Given the description of an element on the screen output the (x, y) to click on. 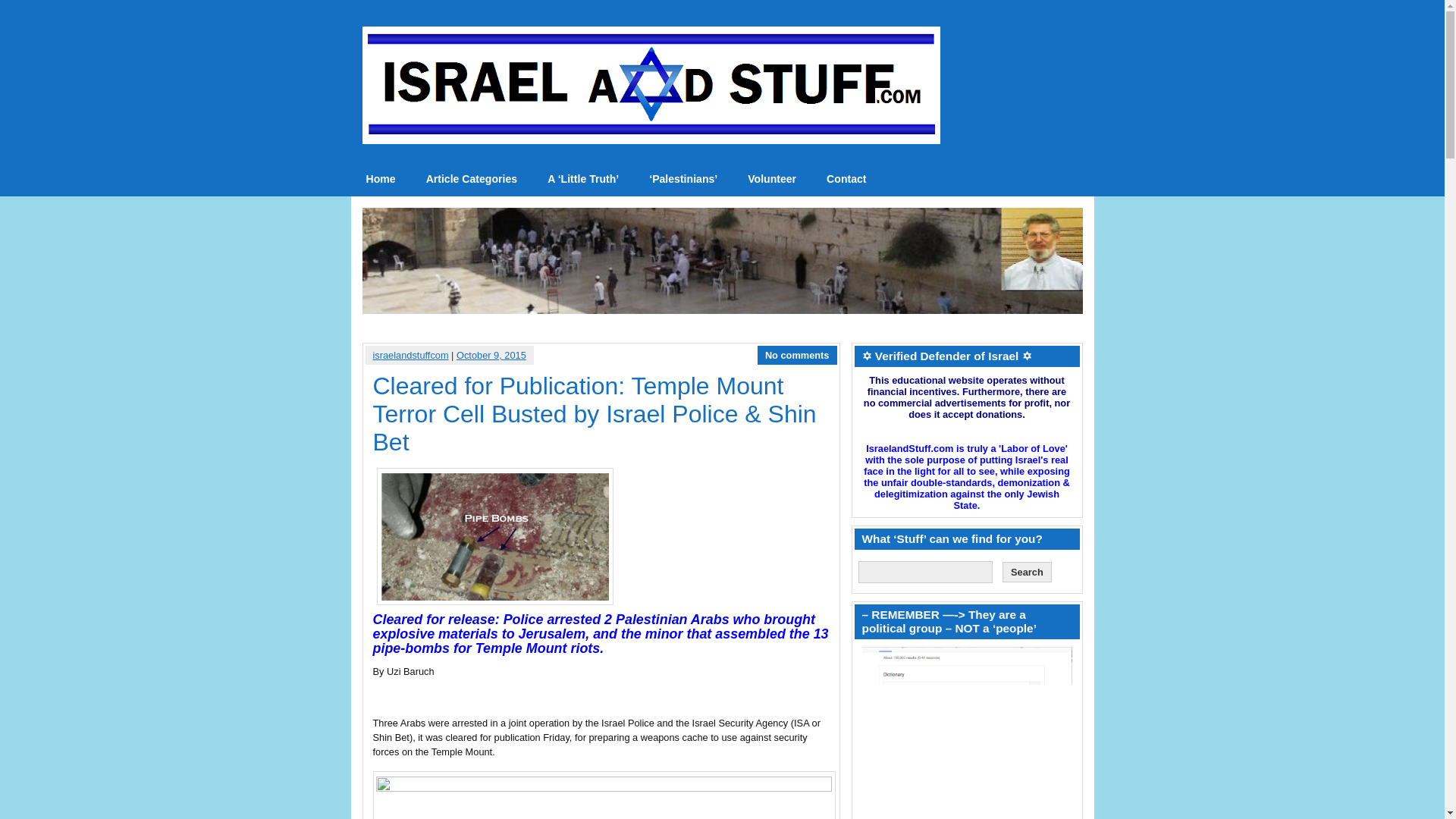
Search (1027, 571)
israelandstuffcom (410, 355)
October 9, 2015 (491, 355)
Home (380, 178)
No comments (797, 355)
news (380, 178)
Contact (845, 178)
Posts by israelandstuffcom (410, 355)
Article Categories (471, 178)
Volunteer (771, 178)
